Given the description of an element on the screen output the (x, y) to click on. 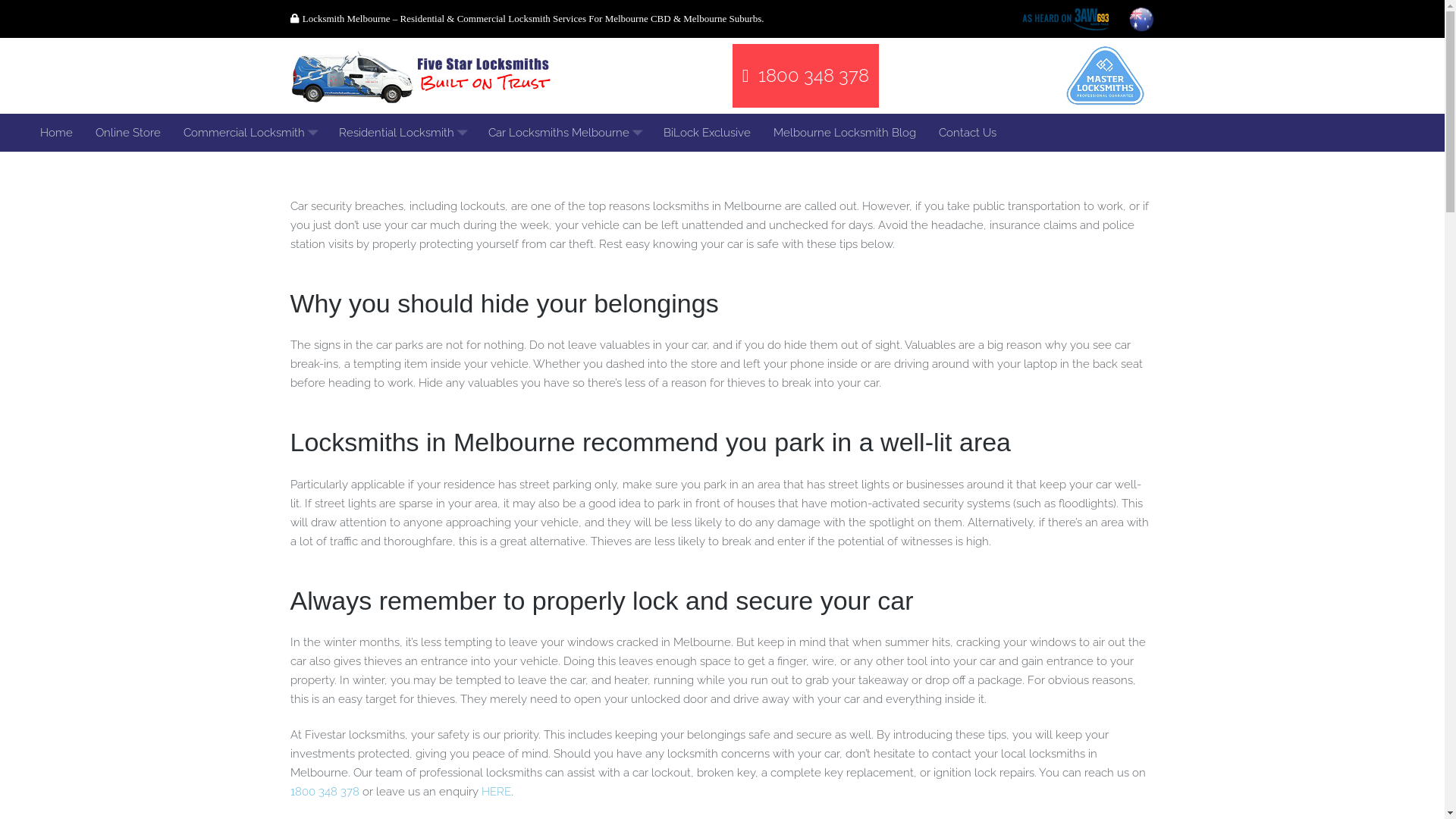
Melbourne Locksmith Blog Element type: text (843, 132)
BiLock Exclusive Element type: text (707, 132)
Residential Locksmith Element type: text (401, 132)
Contact Us Element type: text (966, 132)
HERE Element type: text (495, 791)
Commercial Locksmith Element type: text (248, 132)
Car Locksmiths Melbourne Element type: text (563, 132)
1800 348 378 Element type: text (805, 75)
Home Element type: text (56, 132)
1800 348 378 Element type: text (323, 791)
Online Store Element type: text (127, 132)
